Given the description of an element on the screen output the (x, y) to click on. 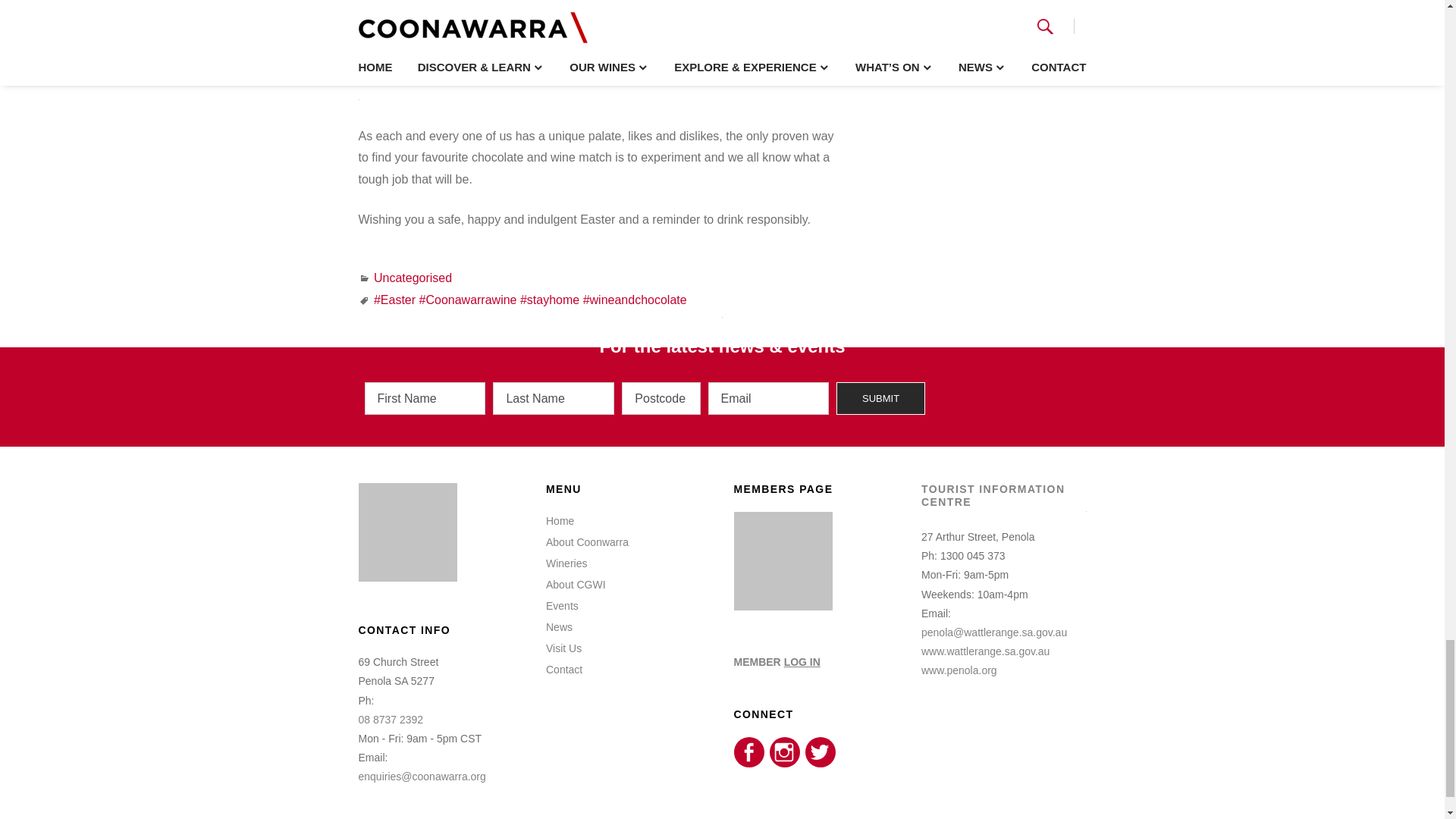
Submit (879, 398)
Members Page (782, 606)
